Given the description of an element on the screen output the (x, y) to click on. 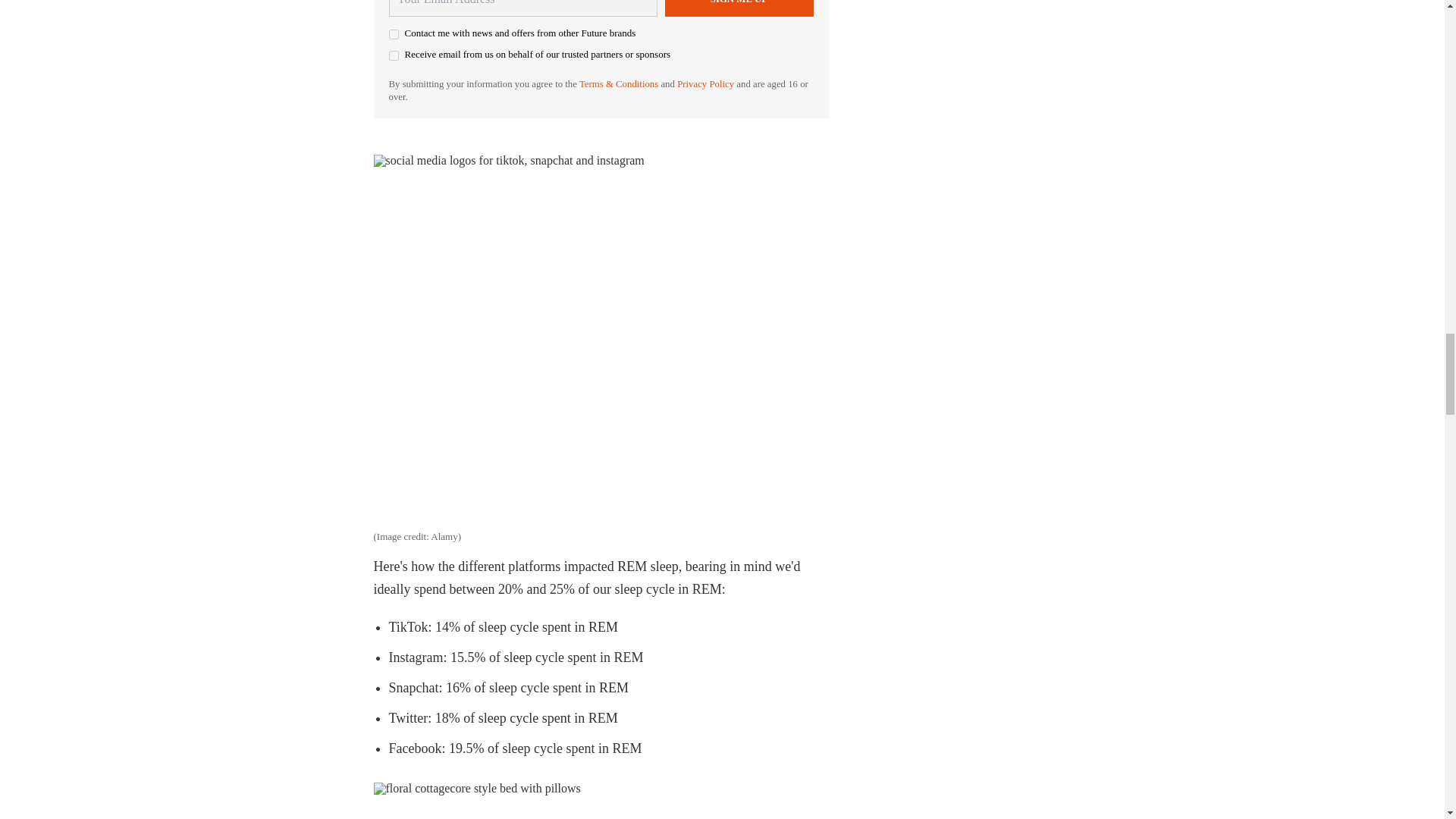
on (392, 55)
Sign me up (737, 8)
on (392, 34)
